Given the description of an element on the screen output the (x, y) to click on. 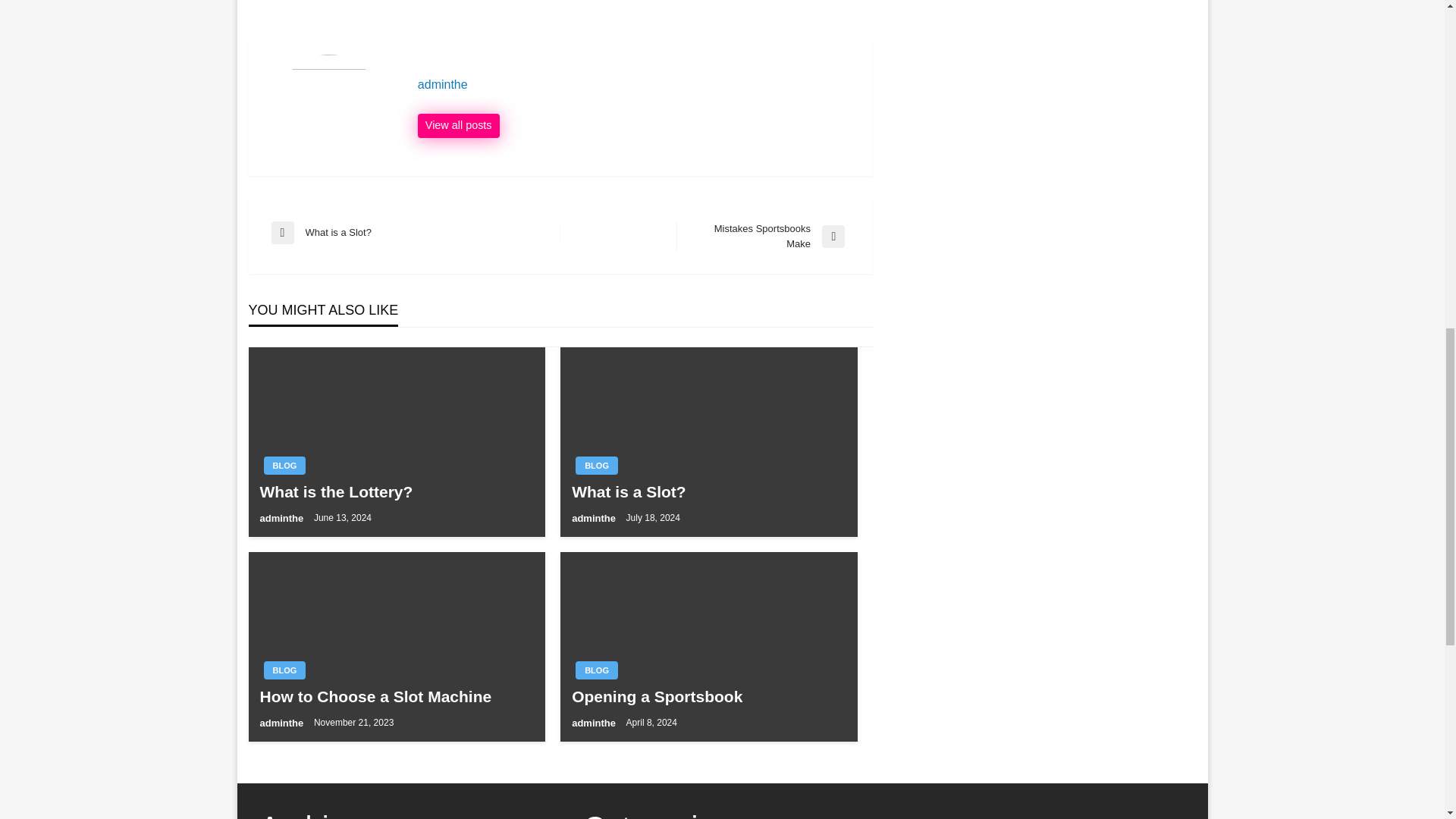
Opening a Sportsbook (708, 696)
What is a Slot? (708, 491)
How to Choose a Slot Machine (396, 696)
adminthe (282, 518)
adminthe (415, 232)
BLOG (637, 84)
adminthe (284, 465)
BLOG (594, 518)
adminthe (596, 465)
